Given the description of an element on the screen output the (x, y) to click on. 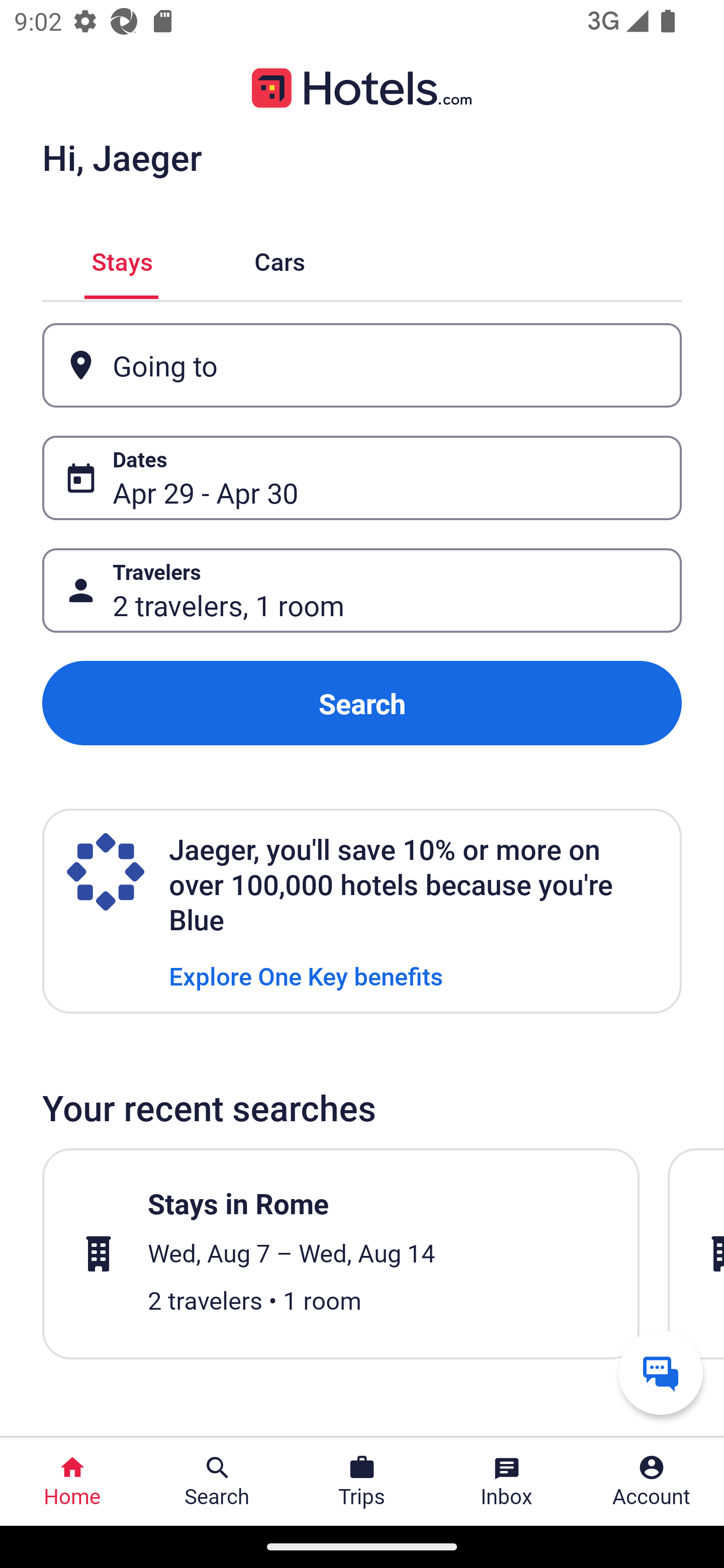
Hi, Jaeger (121, 156)
Cars (279, 259)
Going to Button (361, 365)
Dates Button Apr 29 - Apr 30 (361, 477)
Travelers Button 2 travelers, 1 room (361, 590)
Search (361, 702)
Get help from a virtual agent (660, 1371)
Search Search Button (216, 1481)
Trips Trips Button (361, 1481)
Inbox Inbox Button (506, 1481)
Account Profile. Button (651, 1481)
